Given the description of an element on the screen output the (x, y) to click on. 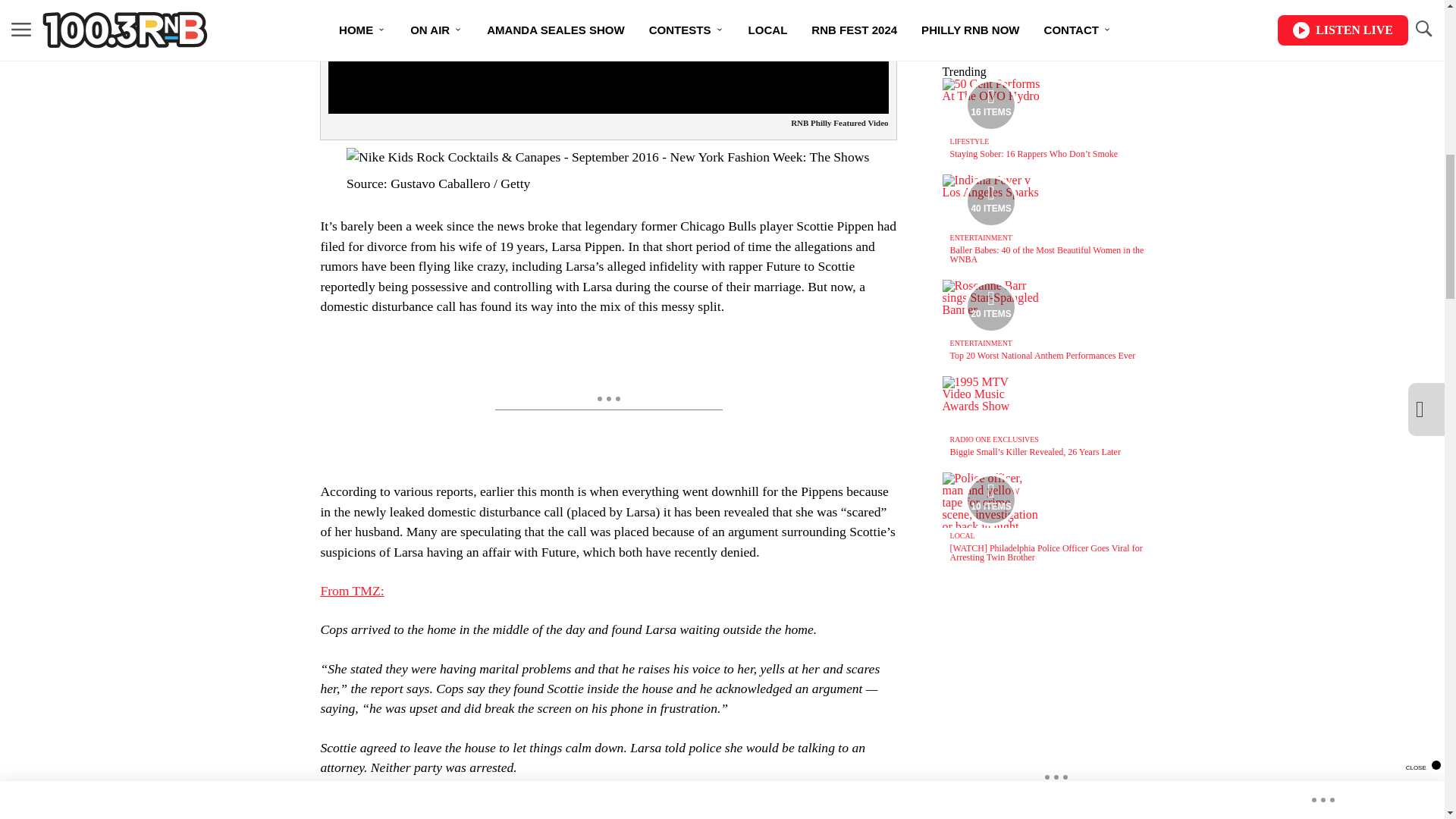
Media Playlist (990, 104)
Media Playlist (990, 306)
From TMZ: (352, 590)
Media Playlist (990, 499)
Media Playlist (990, 201)
